Given the description of an element on the screen output the (x, y) to click on. 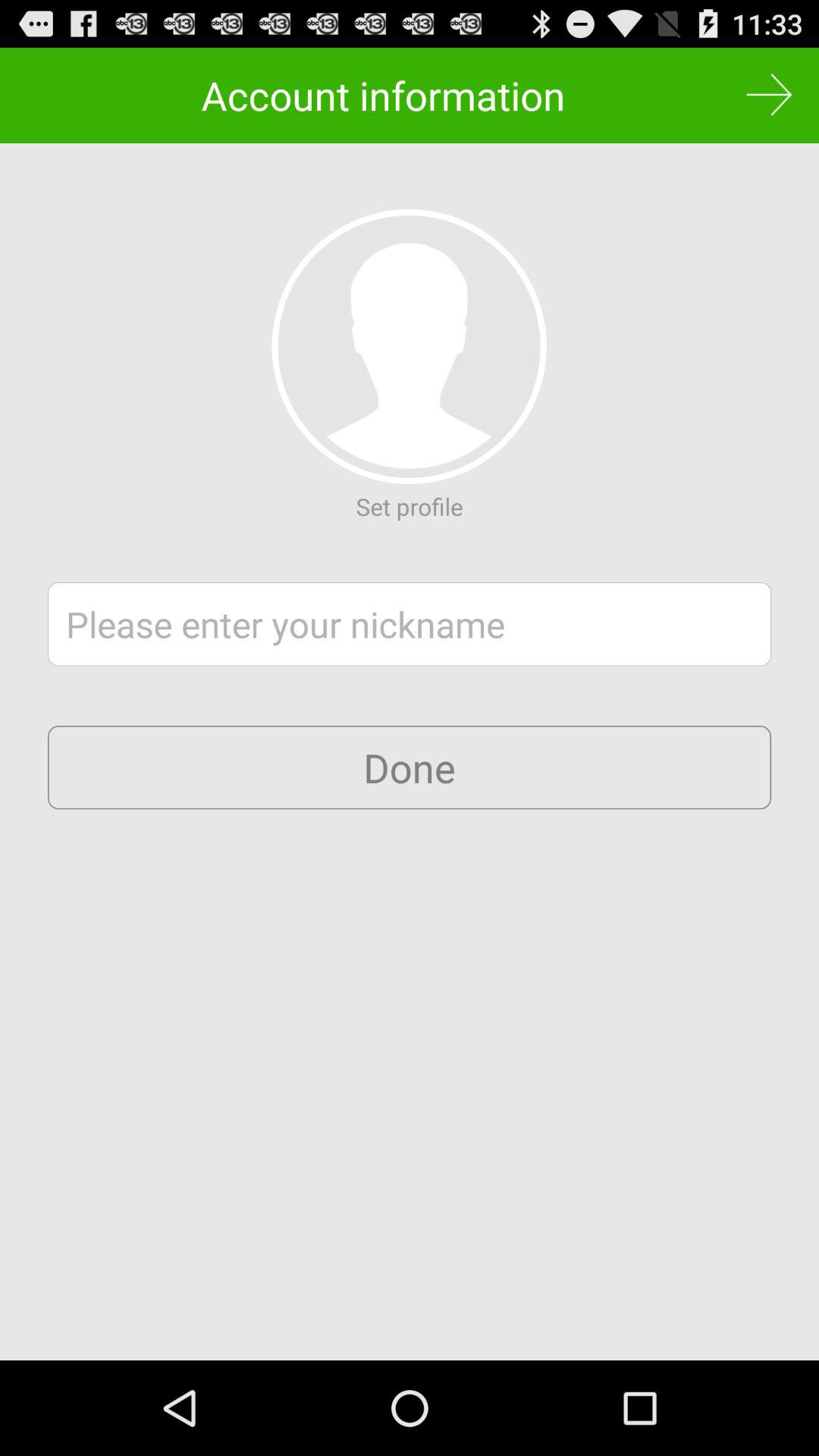
choose icon above the set profile icon (408, 346)
